Given the description of an element on the screen output the (x, y) to click on. 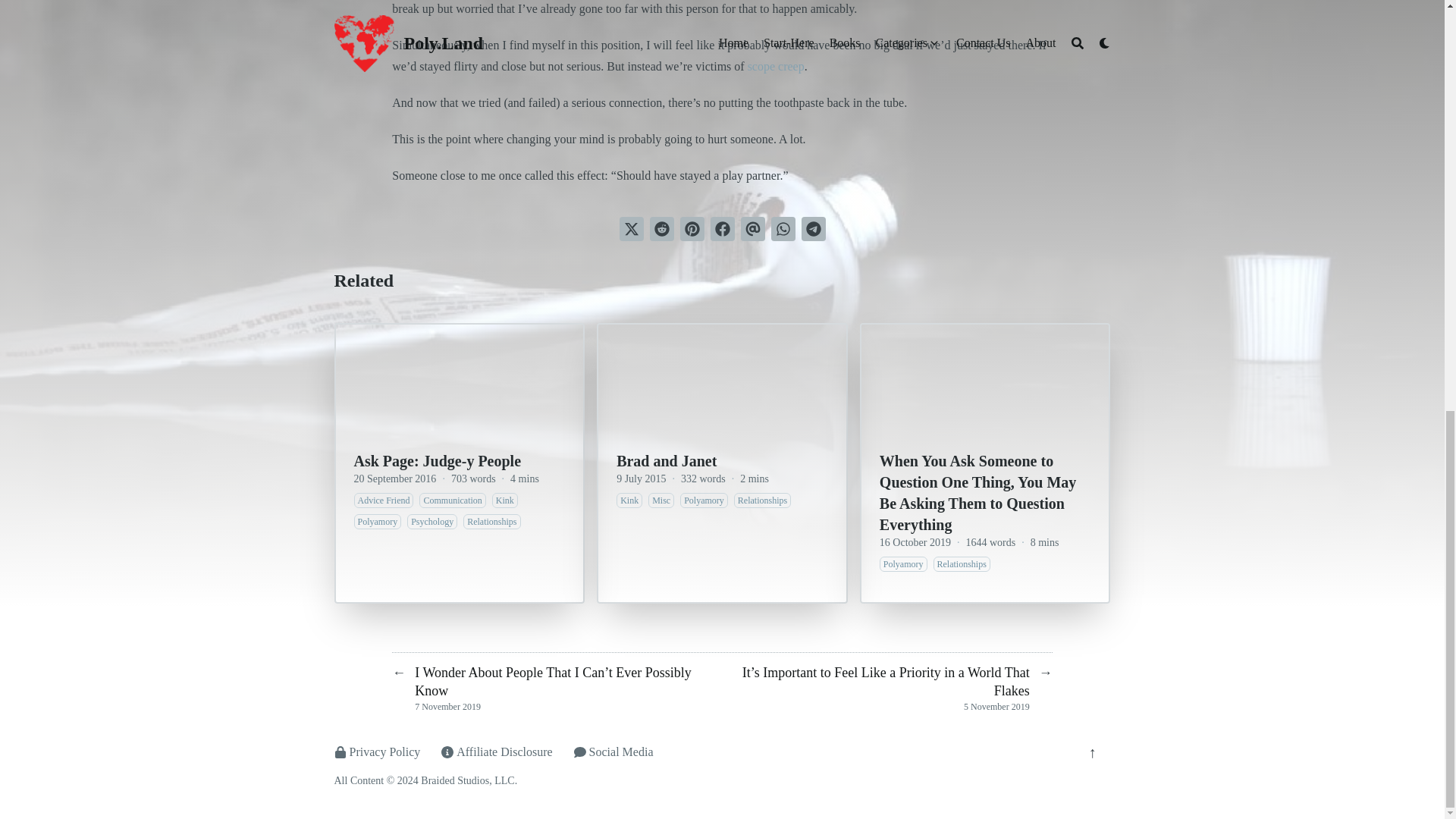
scope creep (776, 65)
